Given the description of an element on the screen output the (x, y) to click on. 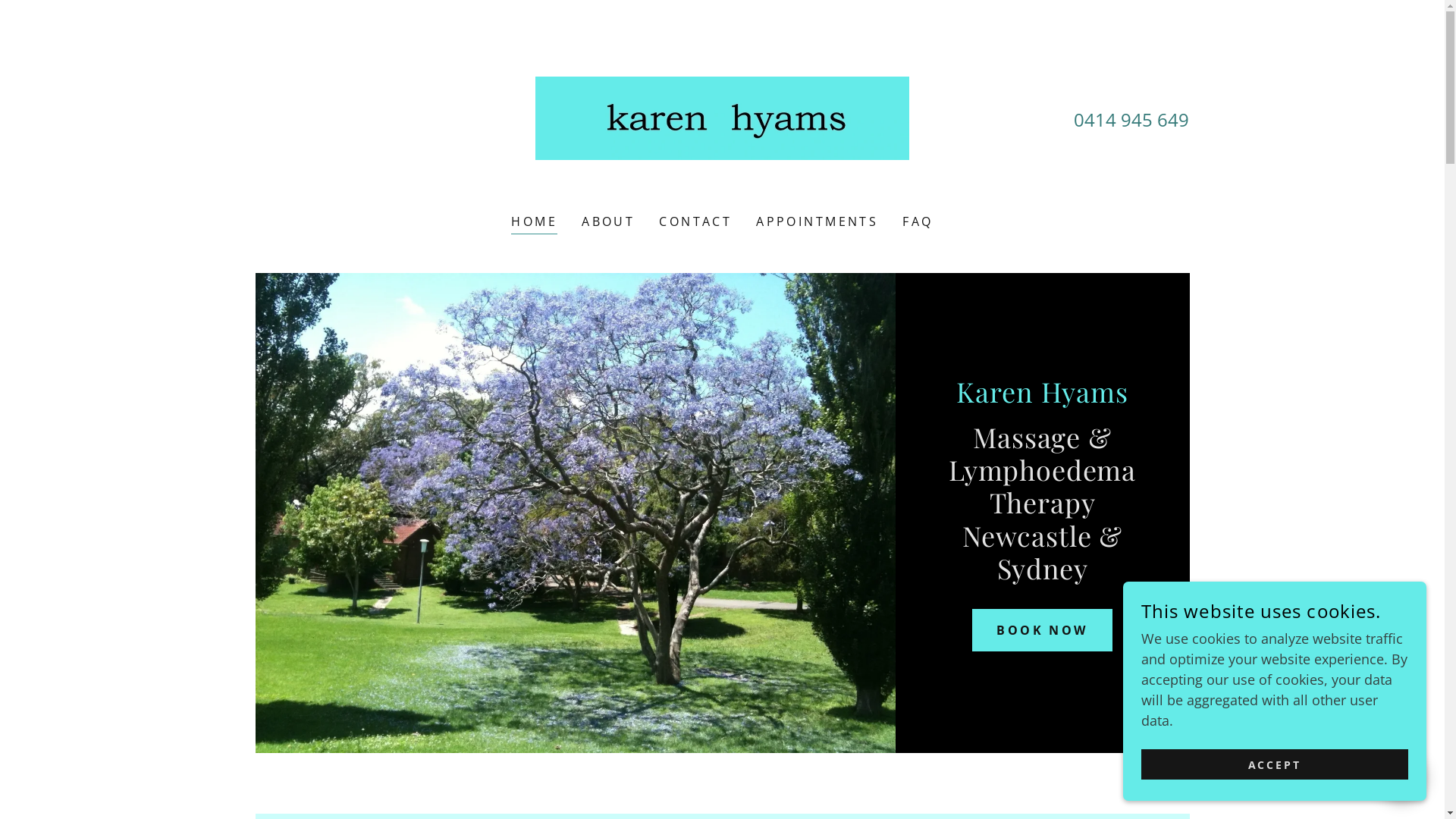
BOOK NOW Element type: text (1041, 629)
FAQ Element type: text (917, 221)
0414 945 649 Element type: text (1131, 118)
CONTACT Element type: text (695, 221)
ACCEPT Element type: text (1274, 764)
ABOUT Element type: text (608, 221)
HOME Element type: text (534, 223)
APPOINTMENTS Element type: text (816, 221)
